Given the description of an element on the screen output the (x, y) to click on. 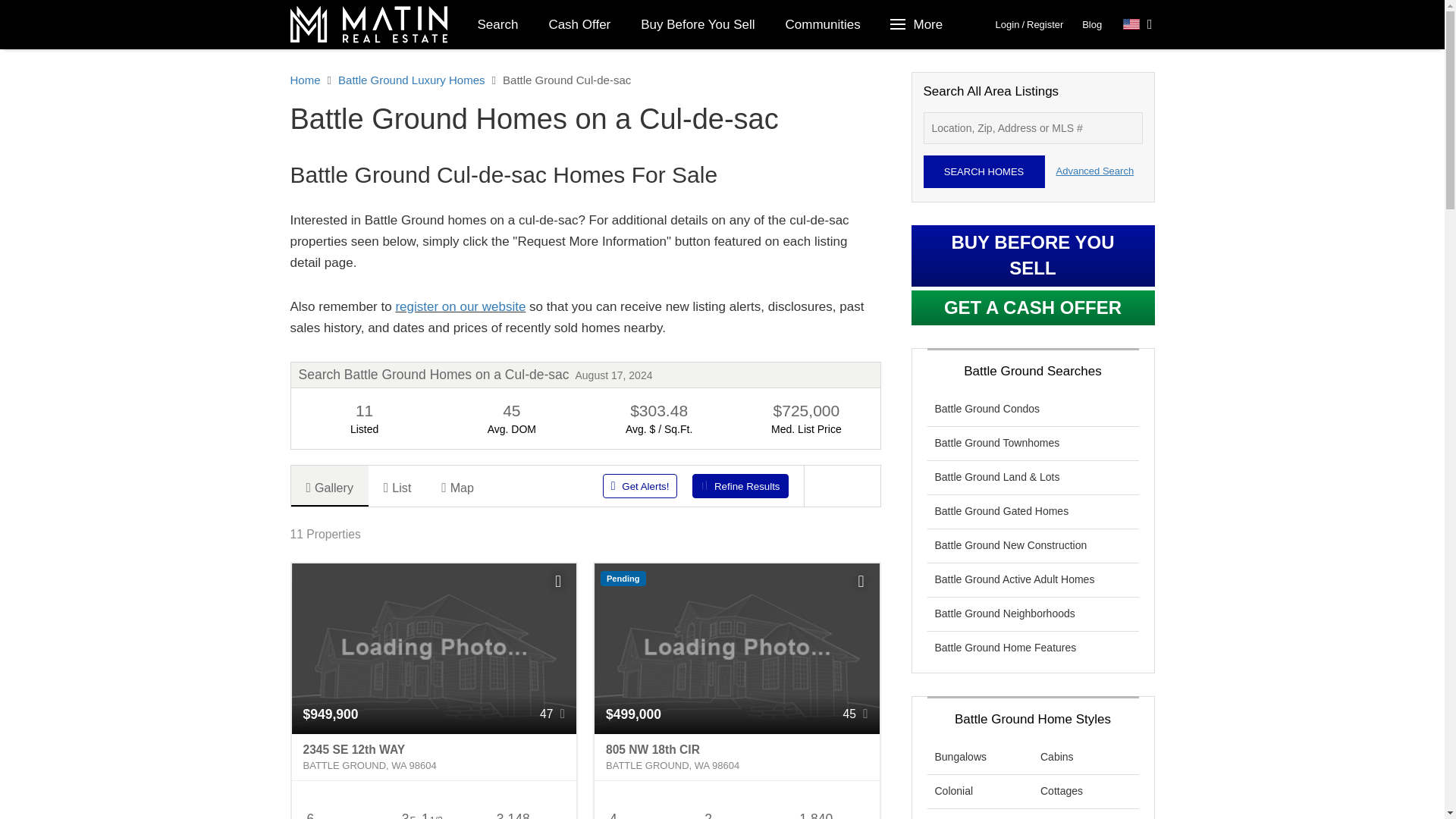
Buy Before You Sell (698, 24)
More (918, 24)
Select Language (1137, 24)
2345 SE 12th WAY Battle Ground,  WA 98604 (433, 757)
805 NW 18th CIR Battle Ground,  WA 98604 (736, 757)
Register (1044, 24)
Luxury Battle Ground homes for sale (459, 306)
Search (498, 24)
Communities (823, 24)
Blog (1091, 24)
